Given the description of an element on the screen output the (x, y) to click on. 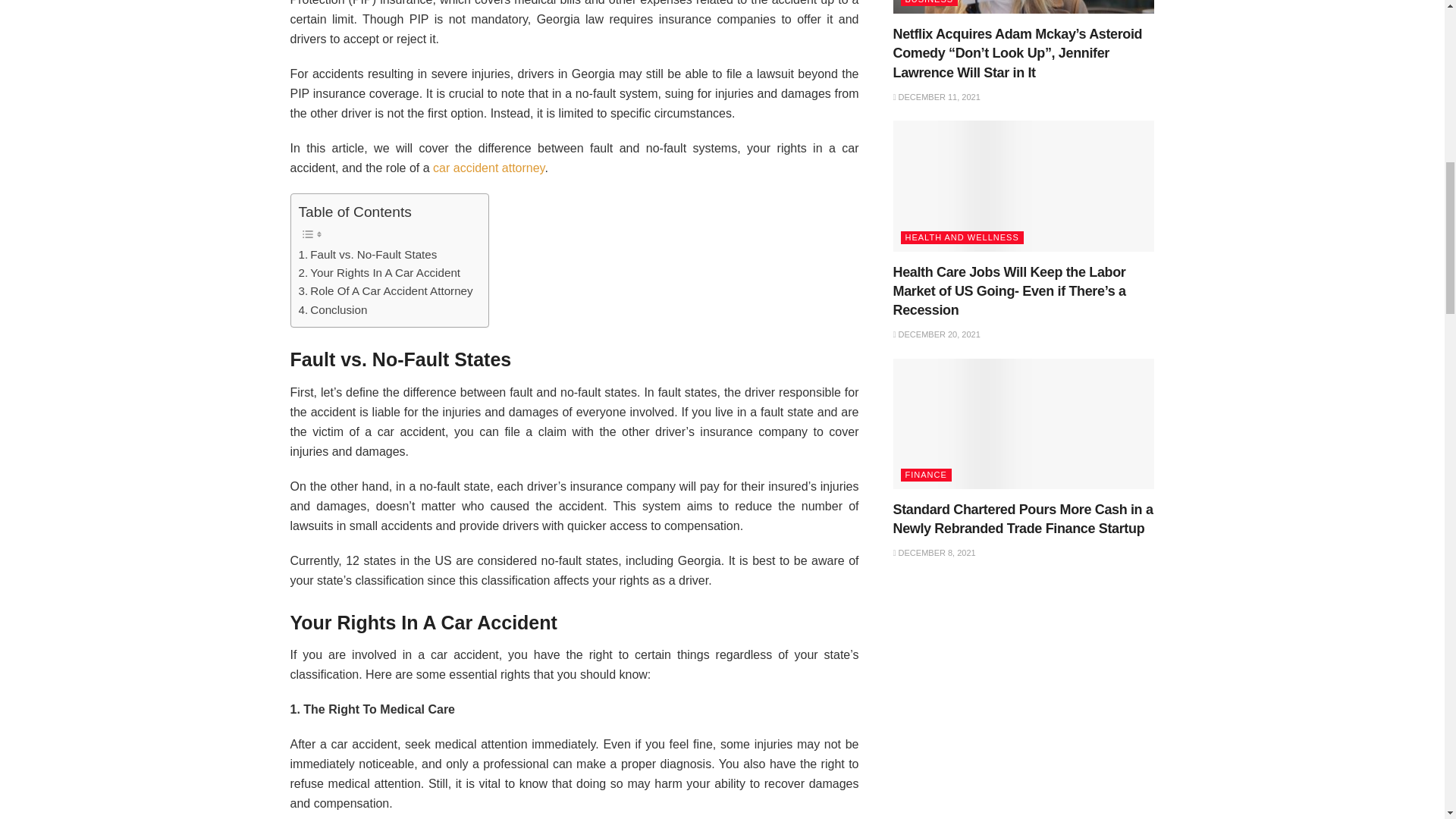
Role Of A Car Accident Attorney (385, 290)
Fault vs. No-Fault States (368, 254)
Fault vs. No-Fault States (368, 254)
Conclusion (333, 310)
Your Rights In A Car Accident (379, 272)
Role Of A Car Accident Attorney (385, 290)
Your Rights In A Car Accident (379, 272)
car accident attorney (488, 167)
